Given the description of an element on the screen output the (x, y) to click on. 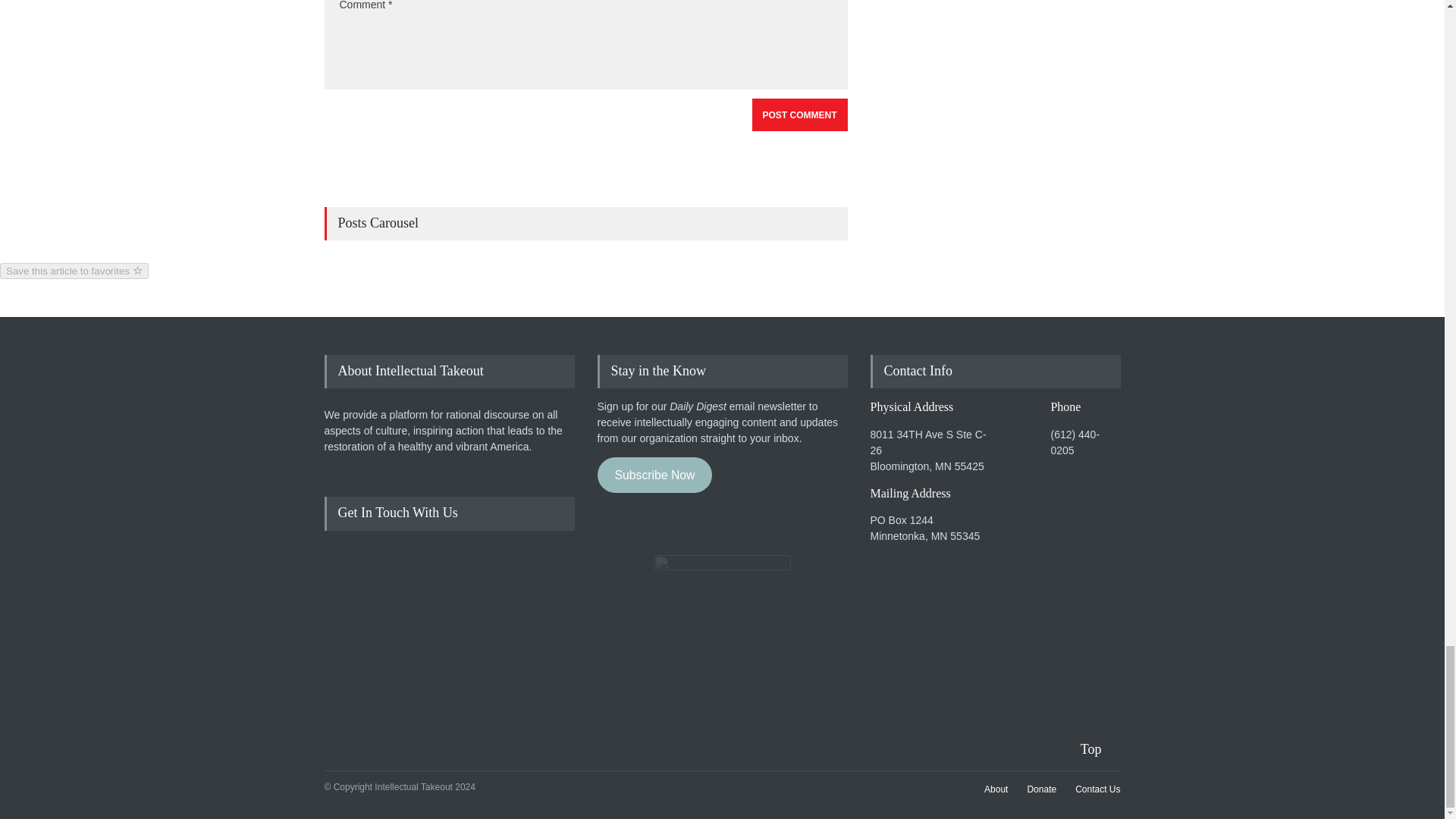
POST COMMENT (799, 114)
Top (1100, 749)
